Given the description of an element on the screen output the (x, y) to click on. 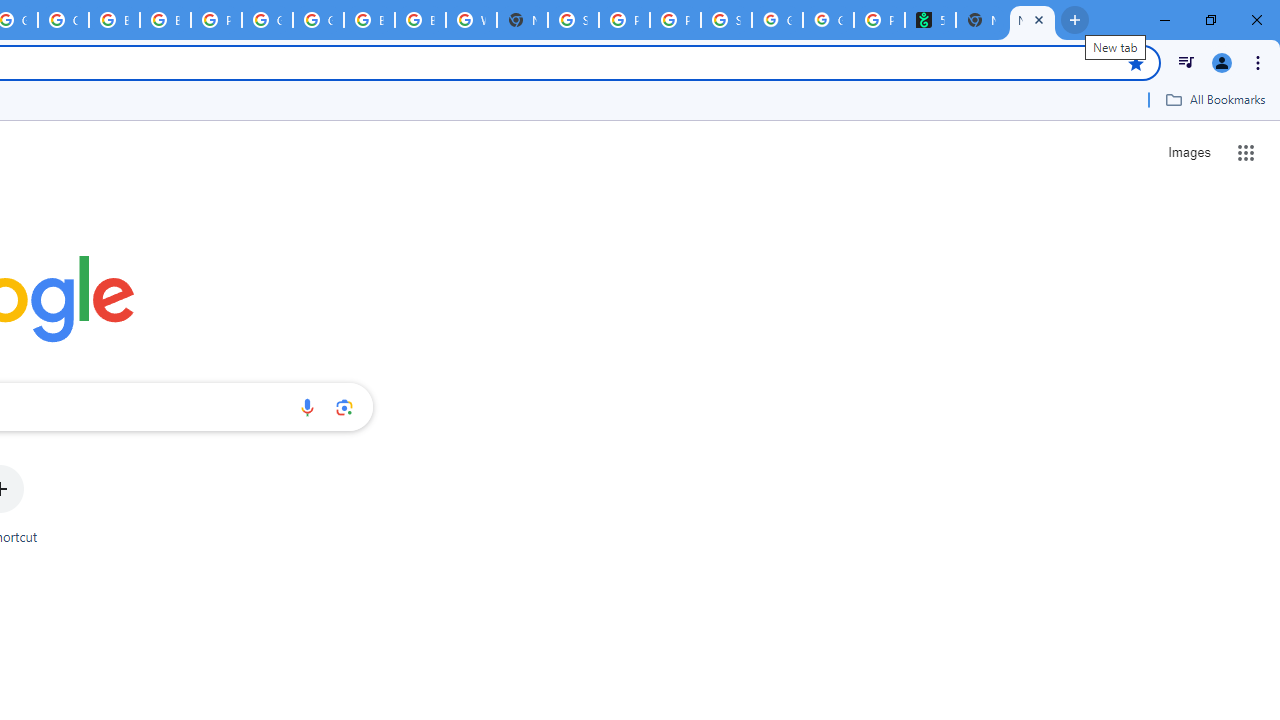
Google Cloud Platform (267, 20)
New Tab (521, 20)
Sign in - Google Accounts (573, 20)
Google Cloud Platform (318, 20)
